Given the description of an element on the screen output the (x, y) to click on. 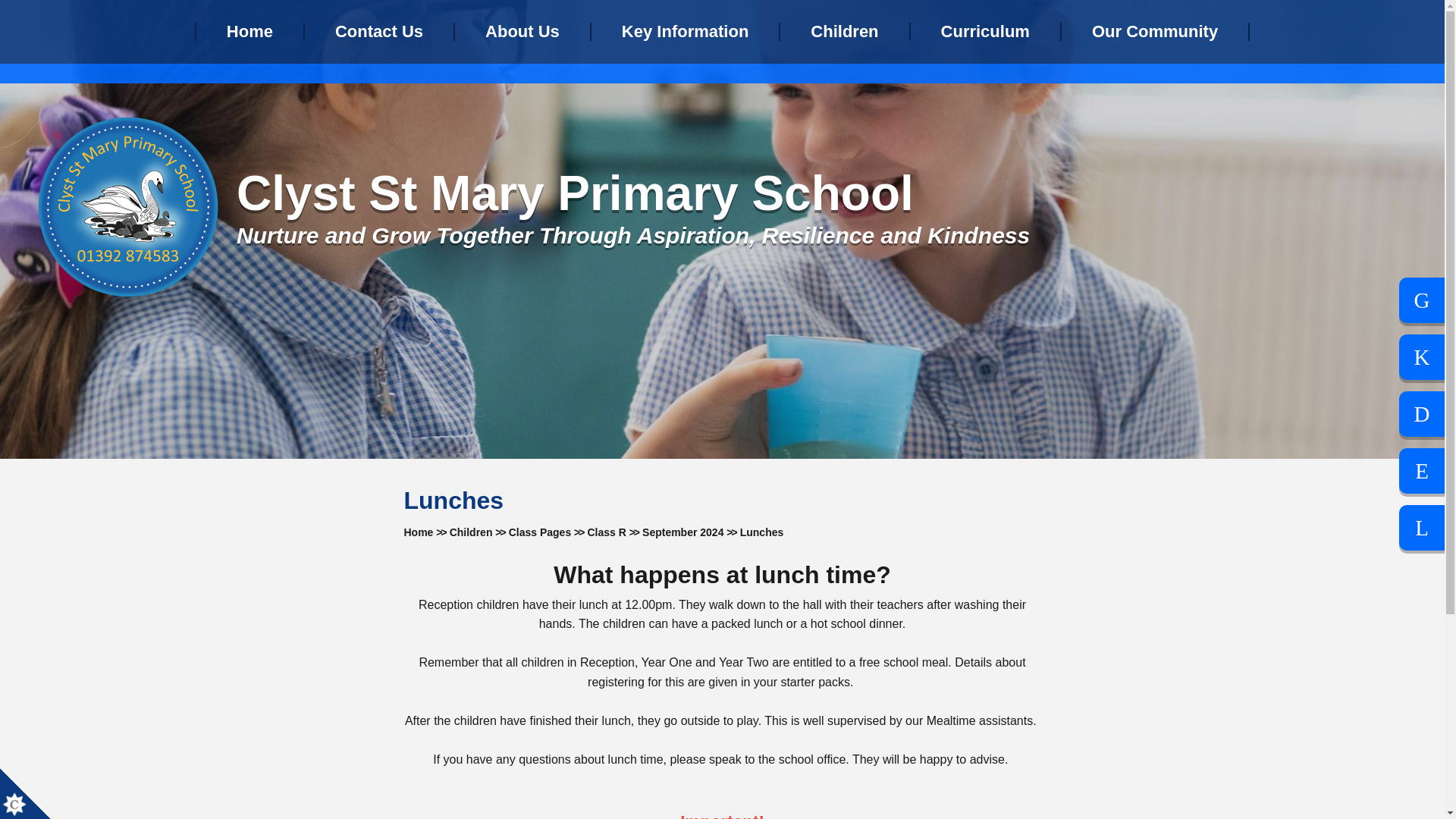
Contact Us (379, 31)
Home Page (127, 207)
About Us (522, 31)
Home (249, 31)
Key Information (684, 31)
